Given the description of an element on the screen output the (x, y) to click on. 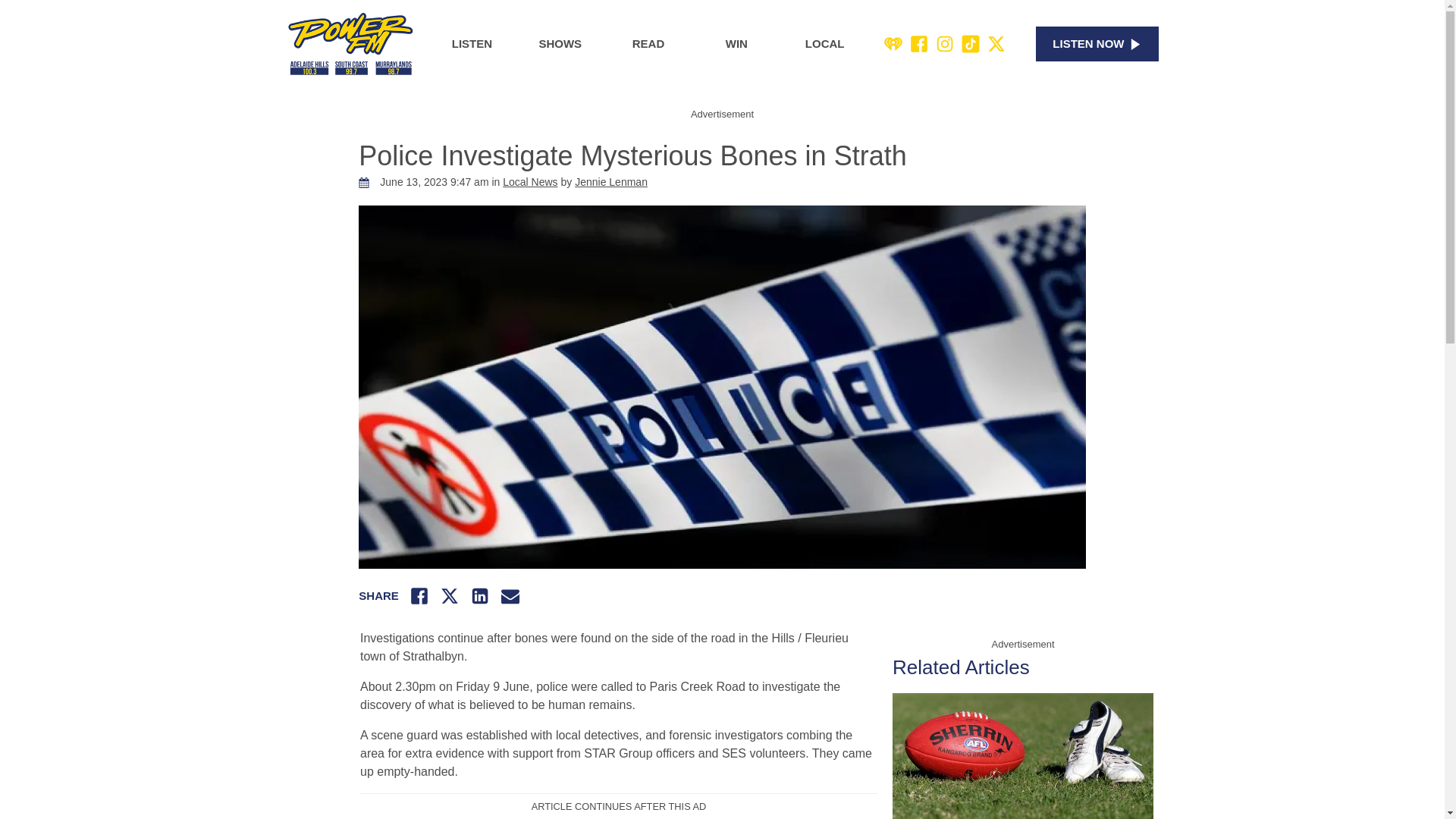
Instagram (944, 44)
LISTEN (471, 43)
iHeart (892, 44)
WIN (736, 43)
Posts by Jennie Lenman (611, 182)
Facebook (919, 44)
LOCAL (824, 43)
Tiktok (969, 44)
READ (648, 43)
SHOWS (560, 43)
